Given the description of an element on the screen output the (x, y) to click on. 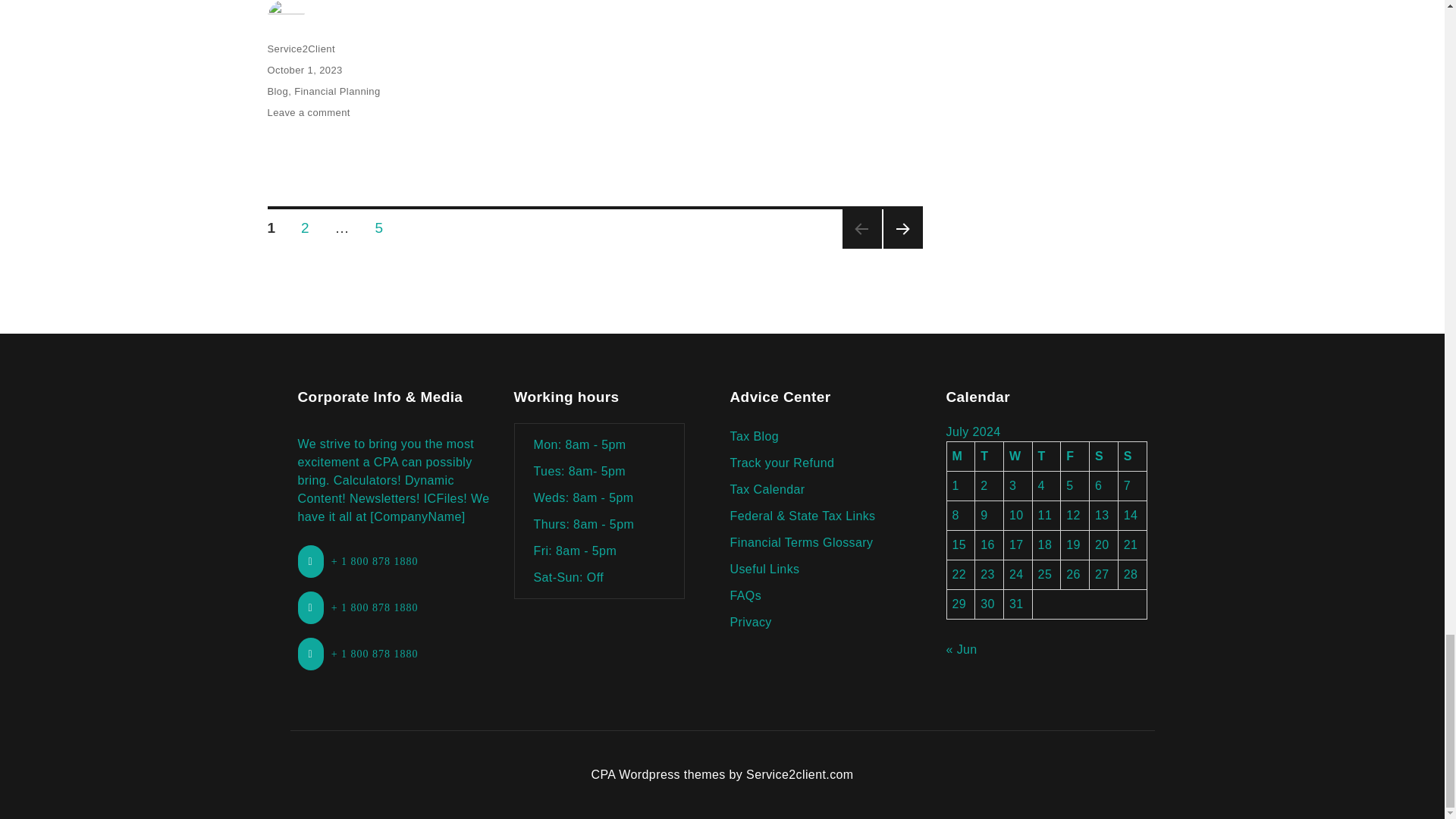
Sunday (1132, 456)
CPA Wordpress themes (658, 774)
Wednesday (1018, 456)
Monday (960, 456)
Thursday (1046, 456)
Tuesday (989, 456)
Friday (1075, 456)
Saturday (1103, 456)
